Given the description of an element on the screen output the (x, y) to click on. 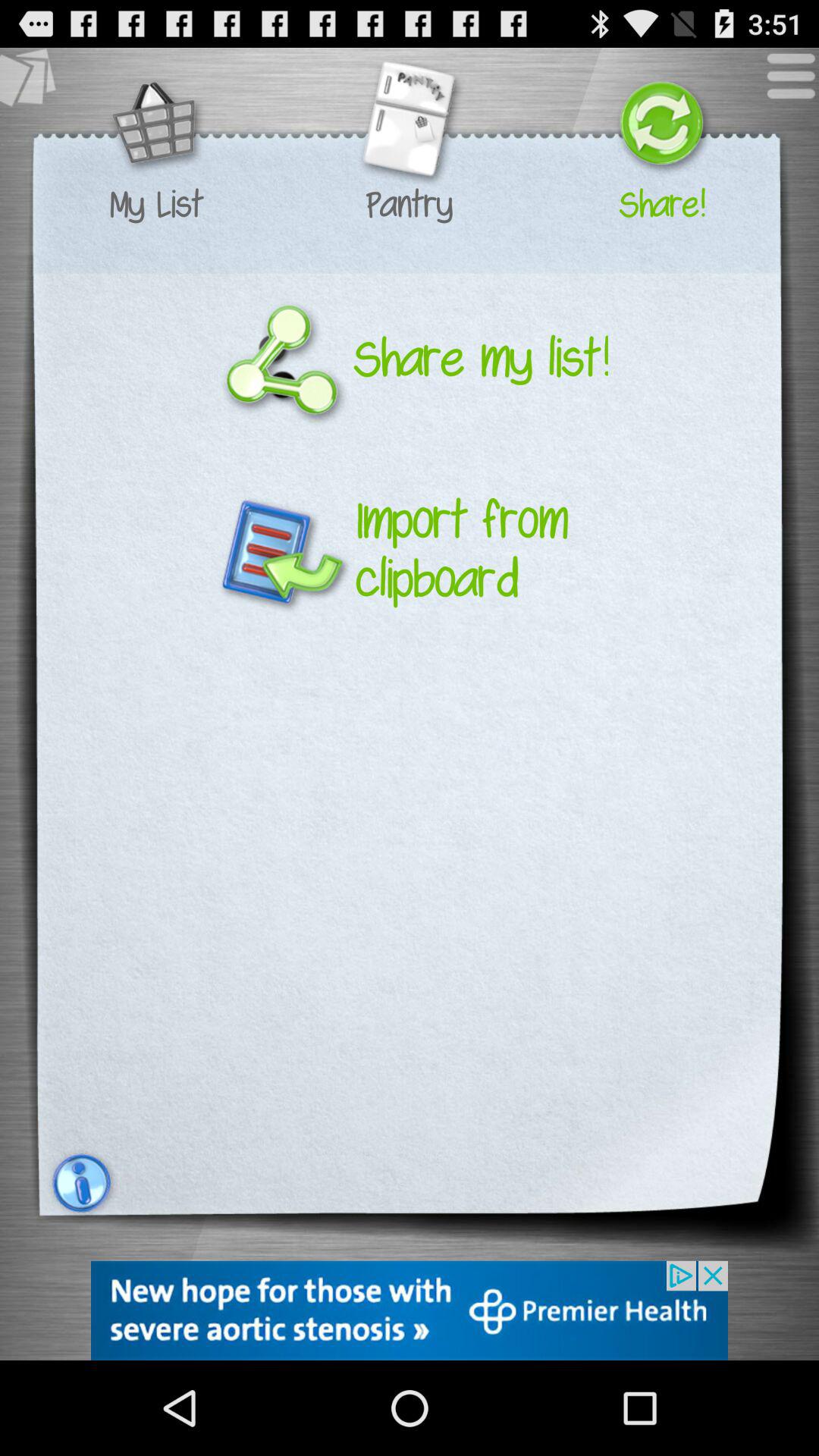
share your list (661, 125)
